Given the description of an element on the screen output the (x, y) to click on. 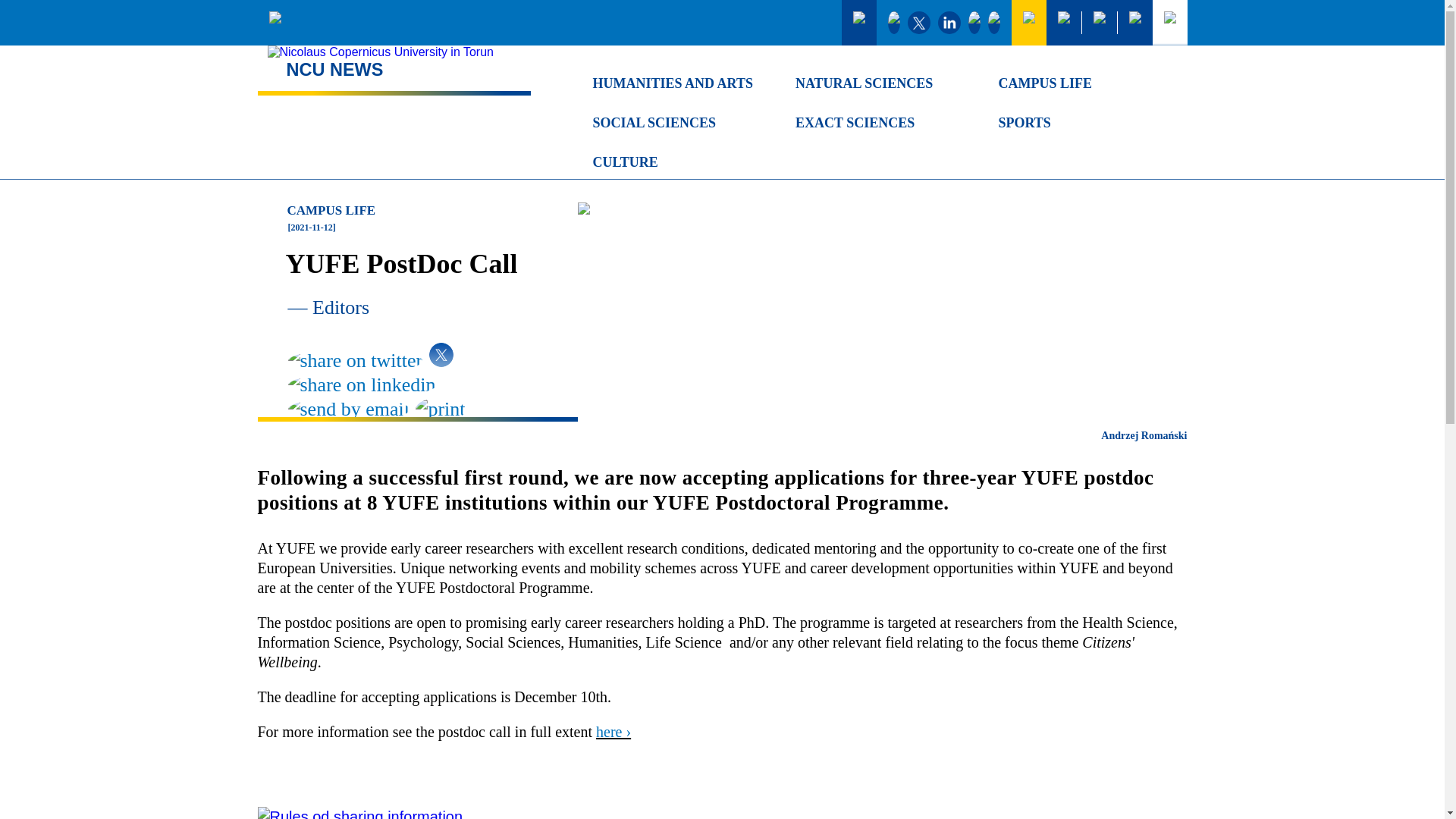
SPORTS (1074, 122)
NCU NEWS (394, 70)
EXACT SCIENCES (872, 122)
NATURAL SCIENCES (872, 82)
SOCIAL SCIENCES (670, 122)
CULTURE (670, 162)
HUMANITIES AND ARTS (670, 82)
Logo Nicolaus Copernicus University in Torun (391, 51)
CAMPUS LIFE (1074, 82)
CAMPUS LIFE (423, 210)
